Given the description of an element on the screen output the (x, y) to click on. 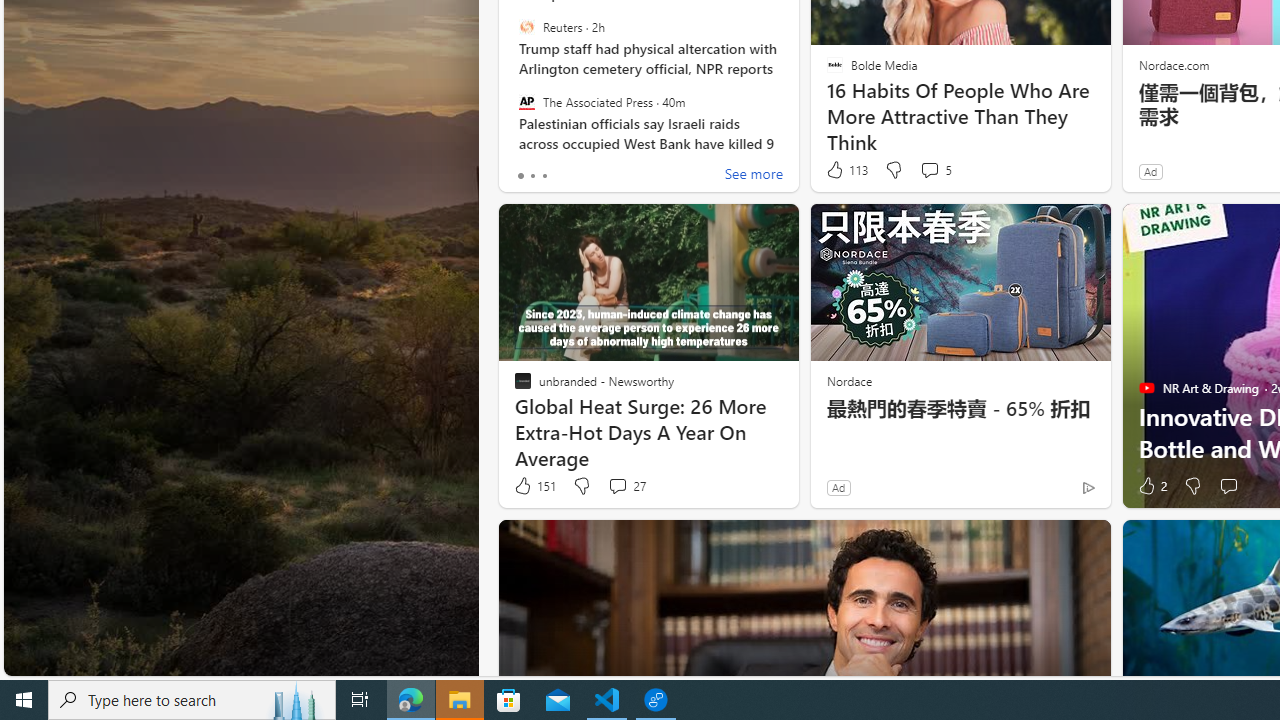
View comments 27 Comment (626, 485)
Ad Choice (1087, 487)
Start the conversation (1228, 485)
Ad (838, 487)
View comments 5 Comment (929, 169)
View comments 5 Comment (935, 170)
Reuters (526, 27)
See more (753, 175)
tab-1 (532, 175)
Nordace.com (1173, 64)
View comments 27 Comment (617, 485)
The Associated Press (526, 101)
151 Like (534, 485)
